Given the description of an element on the screen output the (x, y) to click on. 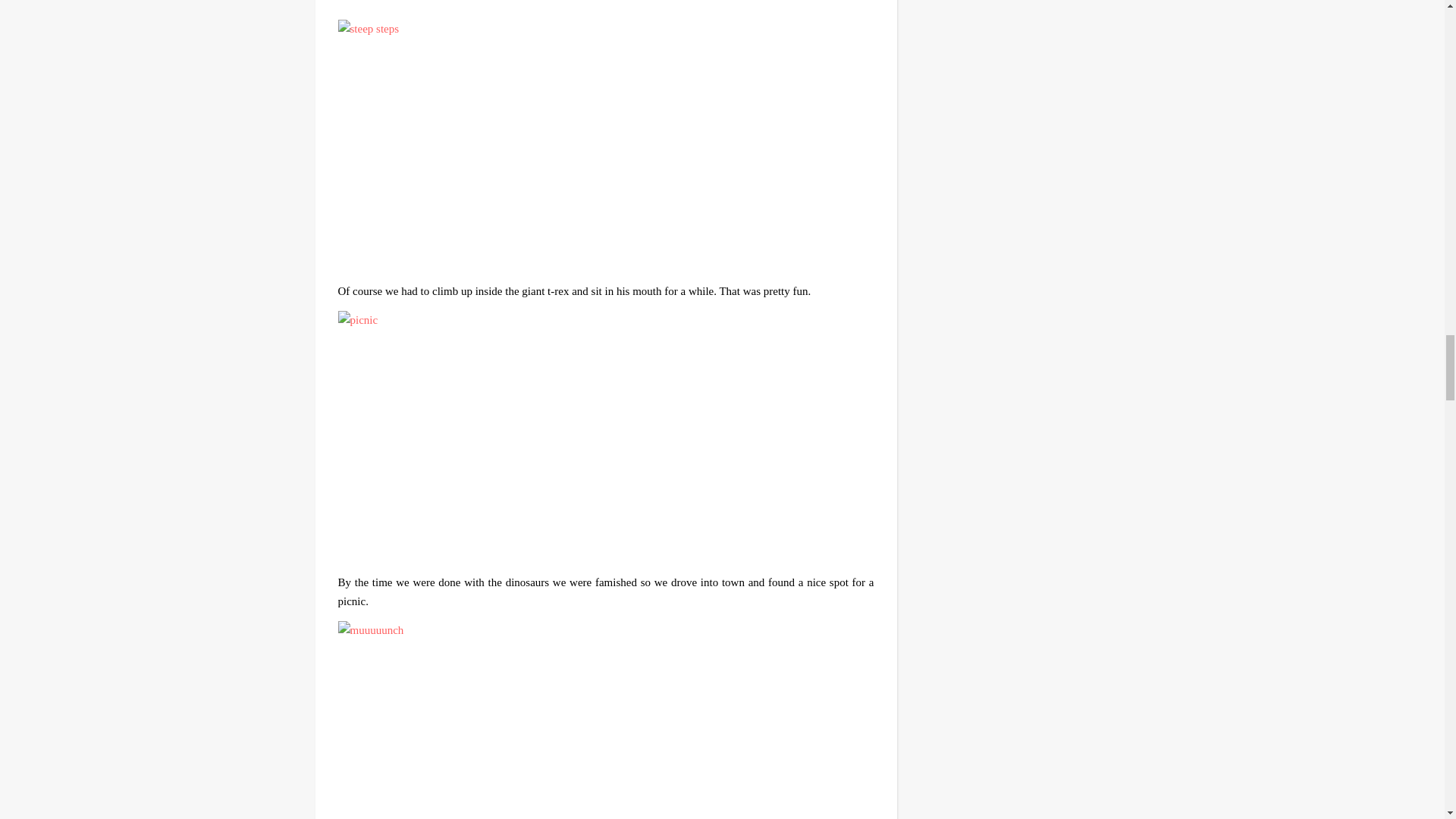
in the mouth of a t-rex by secret agent josephine, on Flickr (606, 4)
